Given the description of an element on the screen output the (x, y) to click on. 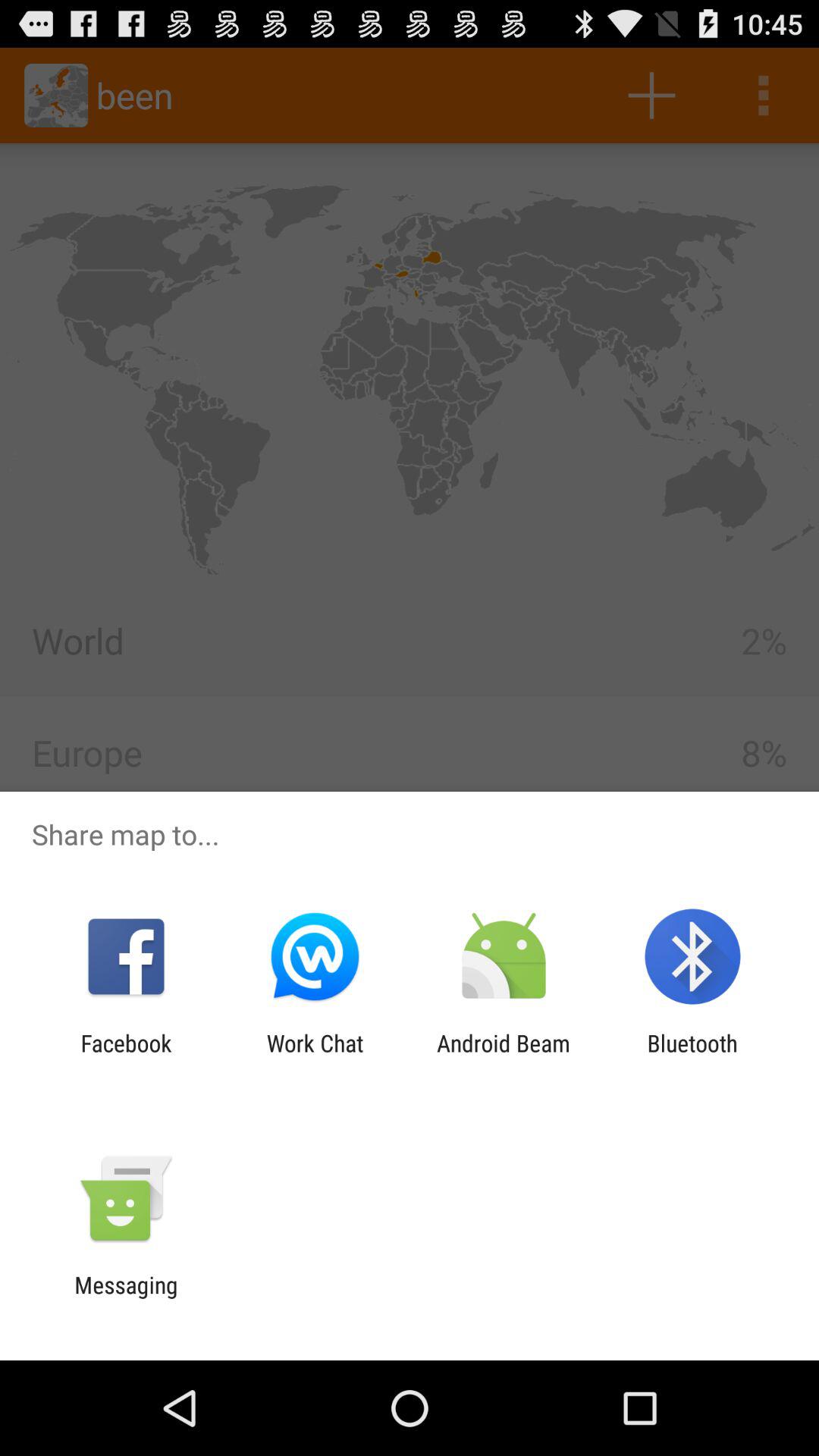
select app to the left of the android beam (314, 1056)
